Given the description of an element on the screen output the (x, y) to click on. 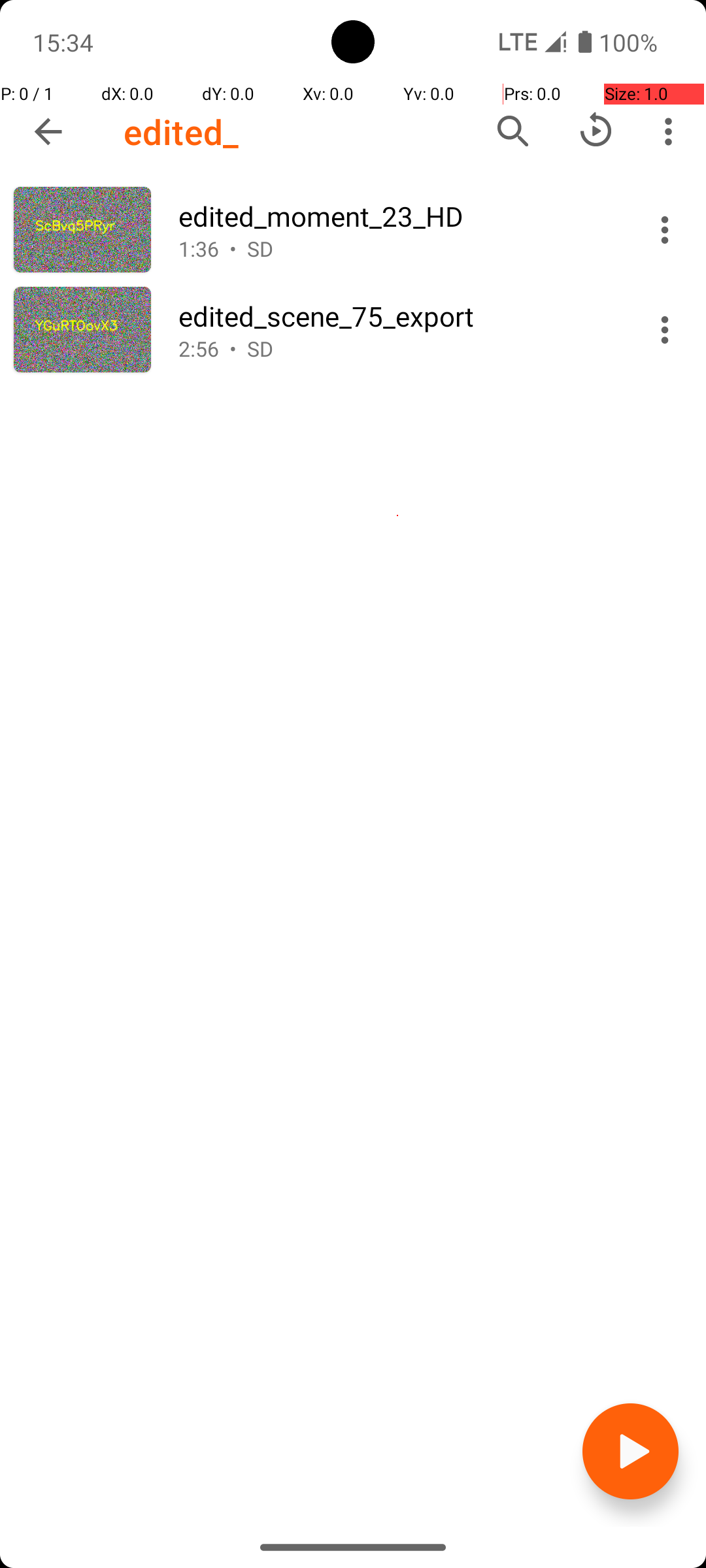
edited_ Element type: android.widget.TextView (181, 131)
Resume playback Element type: android.widget.TextView (595, 131)
Video: edited_moment_23_HD, Duration: 1 minutes 36 seconds Element type: android.view.ViewGroup (353, 229)
Video: edited_scene_75_export, Duration: 2 minutes 56 seconds Element type: android.view.ViewGroup (353, 329)
edited_moment_23_HD Element type: android.widget.TextView (397, 215)
1:36  •  SD Element type: android.widget.TextView (397, 248)
edited_scene_75_export Element type: android.widget.TextView (397, 315)
2:56  •  SD Element type: android.widget.TextView (397, 348)
